Given the description of an element on the screen output the (x, y) to click on. 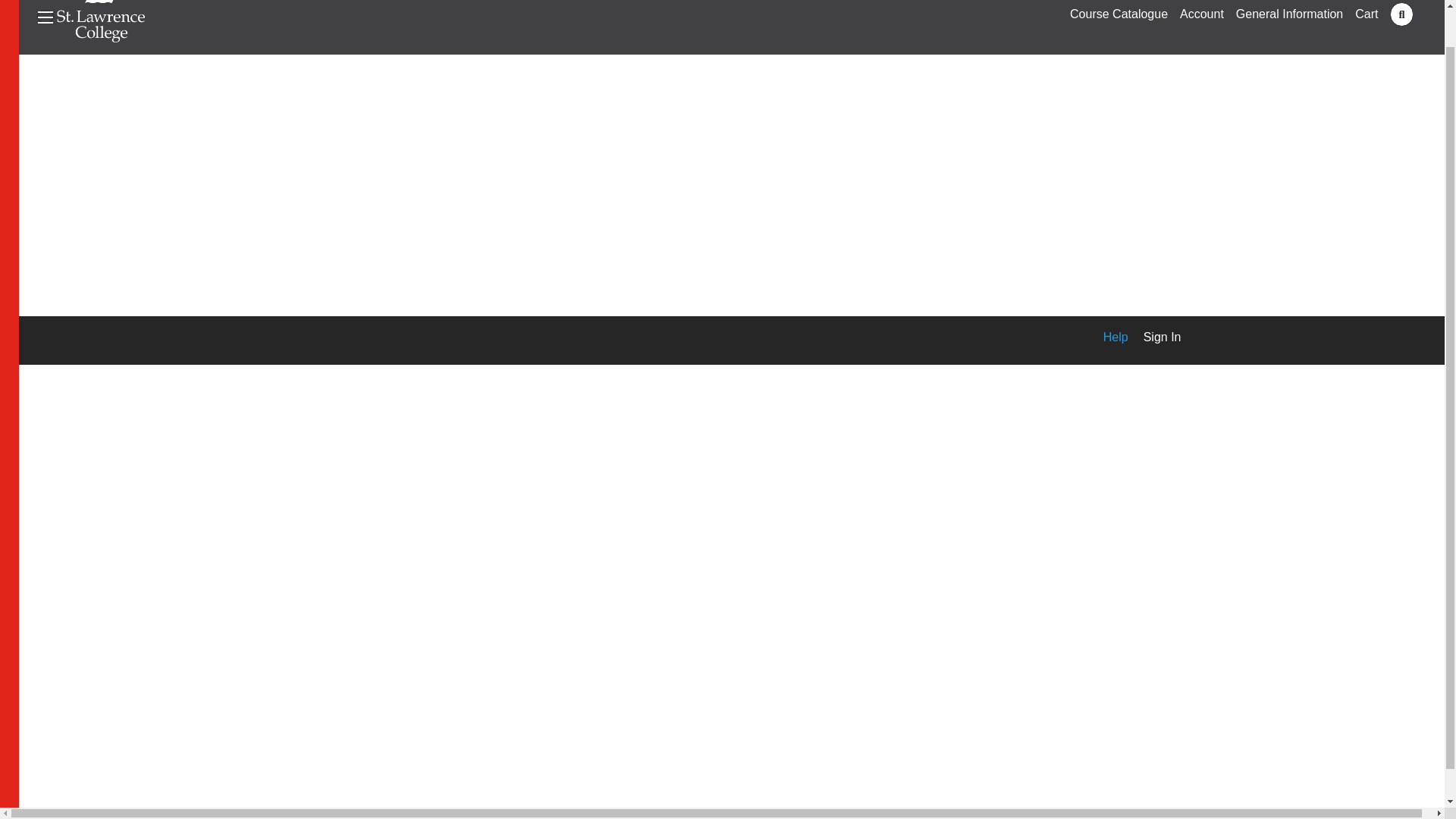
Help (1107, 337)
General Information (1289, 14)
Sign In (1154, 337)
General Information (1289, 14)
Shopping Cart (1366, 14)
My Account (1201, 14)
Course Catalogue (1118, 14)
Account (1201, 14)
Cart (1366, 14)
